Given the description of an element on the screen output the (x, y) to click on. 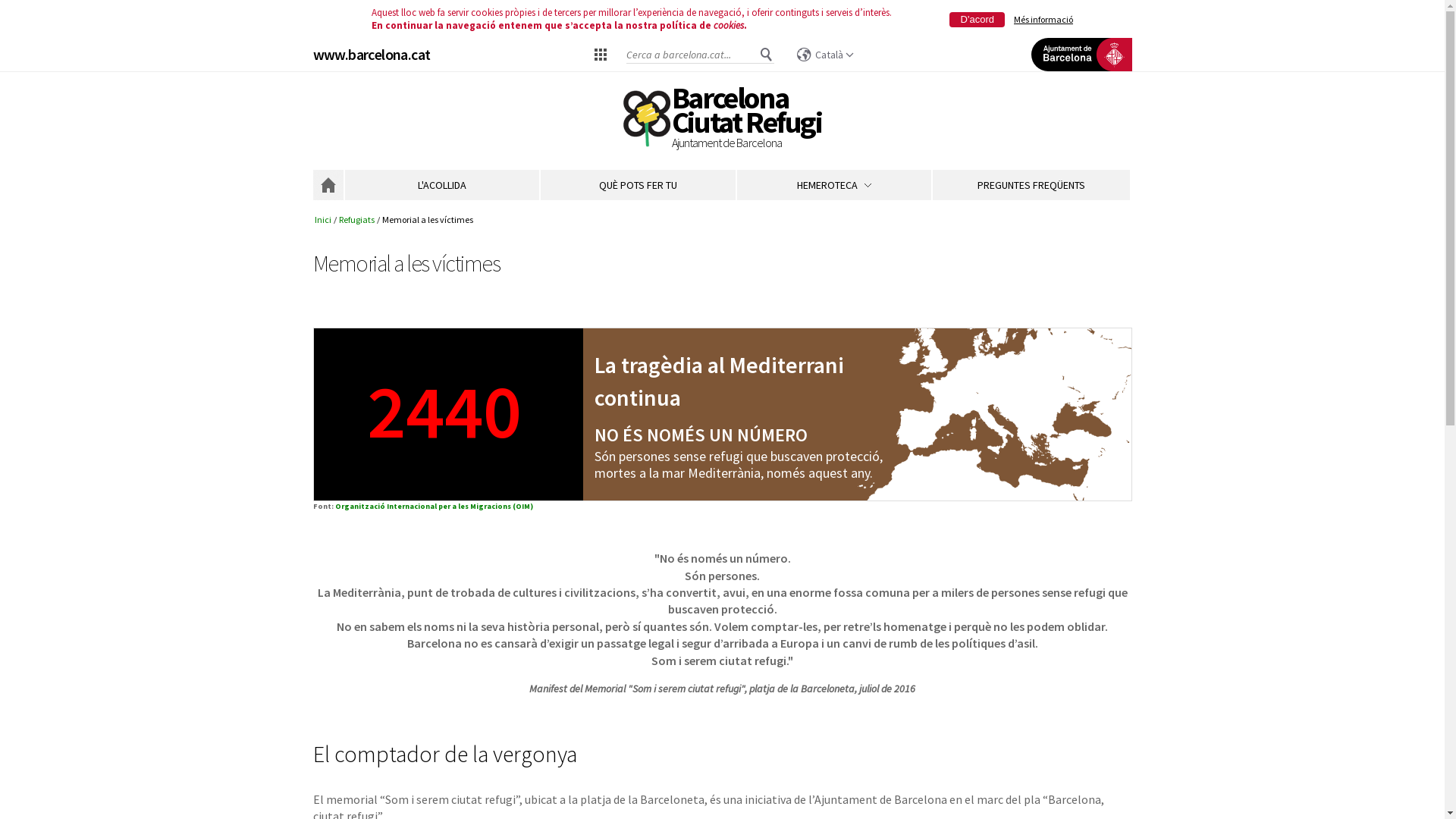
www.barcelona.cat Element type: text (370, 53)
Inici Element type: hover (646, 119)
HEMEROTECA Element type: text (834, 184)
Dreceres de barcelona.cat Element type: hover (600, 53)
cookies Element type: text (728, 24)
D'acord Element type: text (976, 19)
Barcelona
Ciutat Refugi
Ajuntament de Barcelona Element type: text (746, 119)
Refugiats Element type: text (356, 219)
Inici Element type: text (322, 219)
L'ACOLLIDA Element type: text (441, 184)
INICI Element type: text (327, 184)
